Given the description of an element on the screen output the (x, y) to click on. 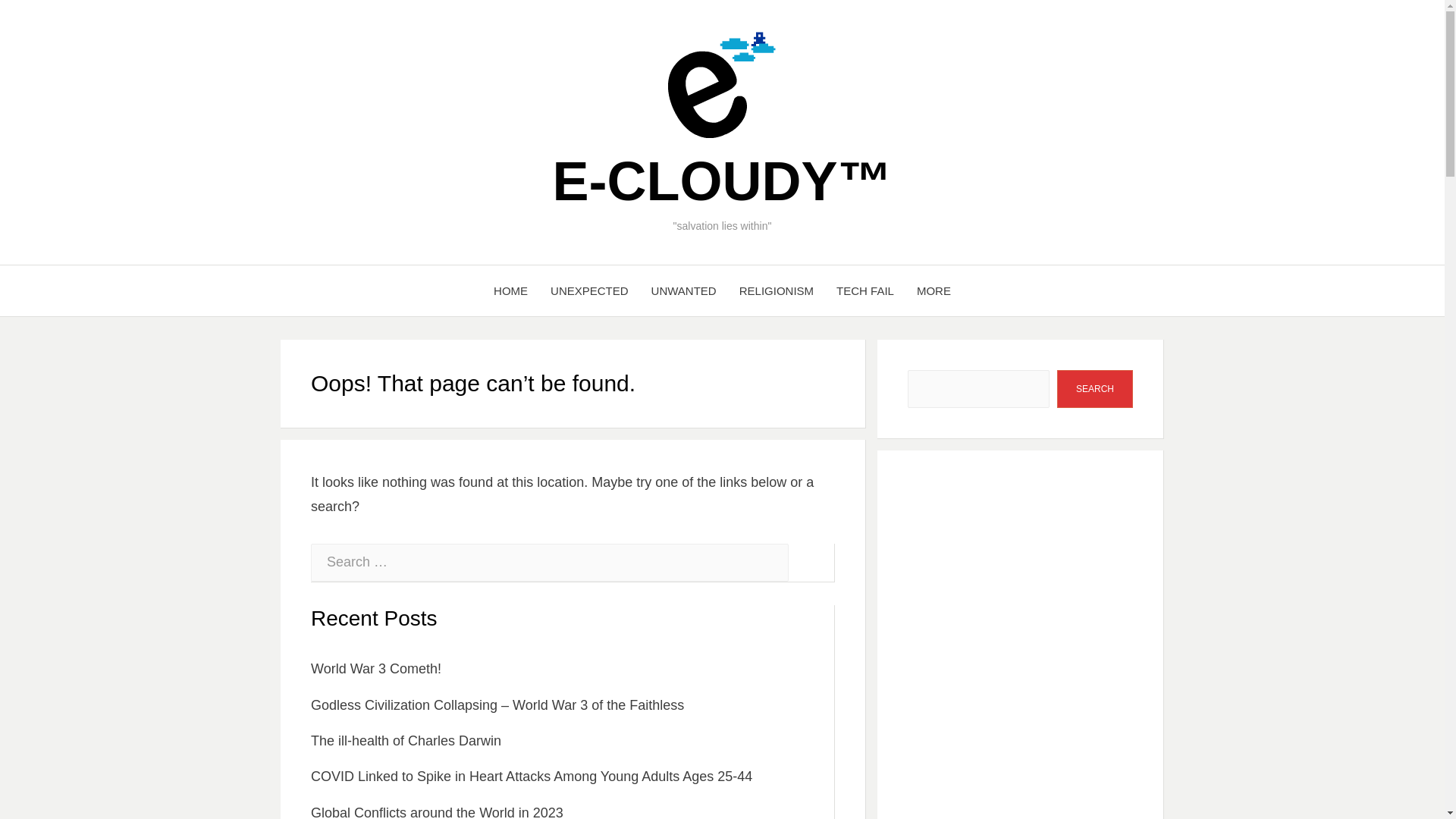
The ill-health of Charles Darwin (405, 740)
Search for: (550, 562)
Global Conflicts around the World in 2023 (437, 812)
UNEXPECTED (589, 290)
World War 3 Cometh! (376, 668)
HOME (509, 290)
MORE (933, 290)
RELIGIONISM (776, 290)
TECH FAIL (865, 290)
